Given the description of an element on the screen output the (x, y) to click on. 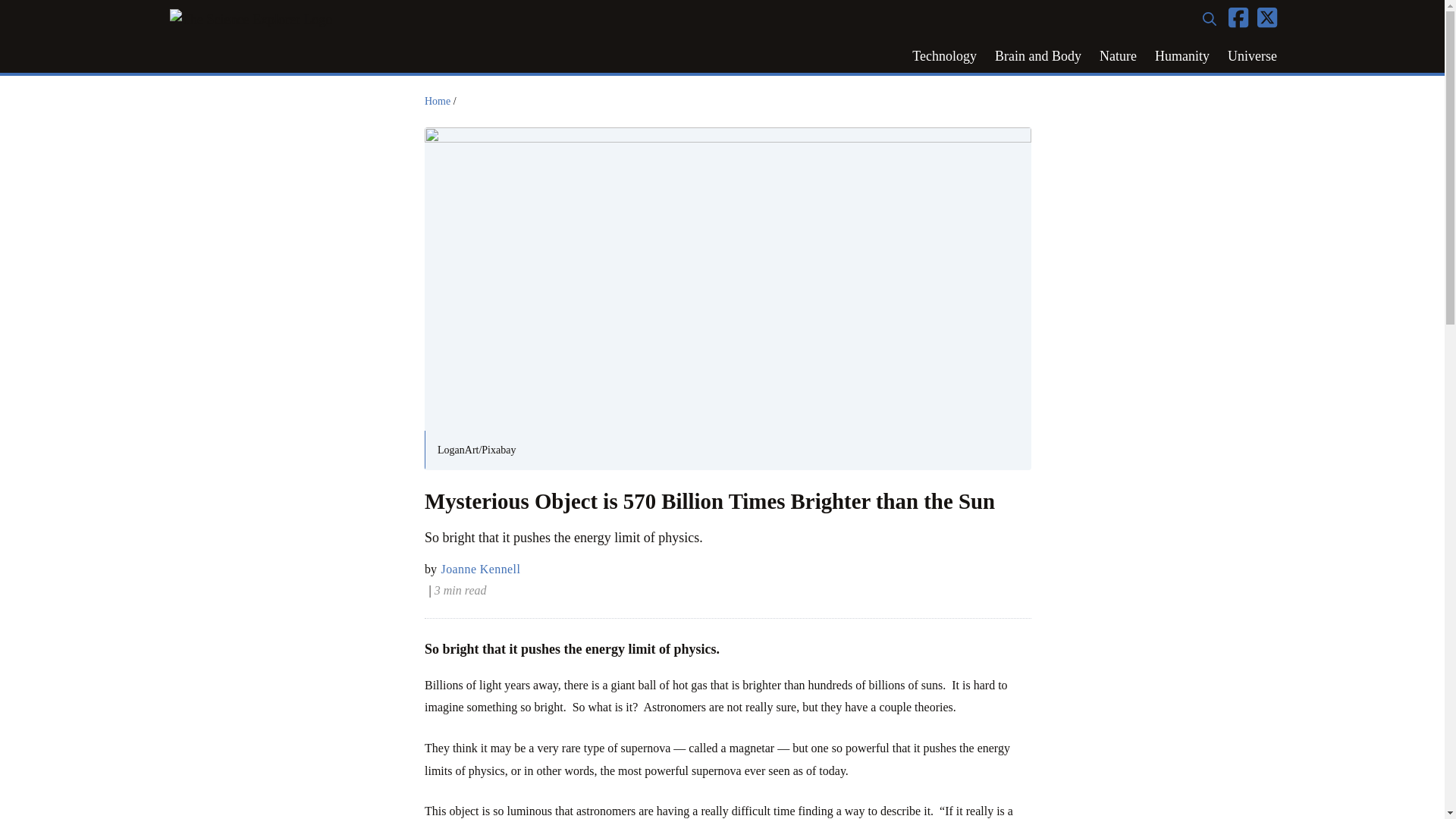
Open Search (1209, 19)
Home (437, 101)
Humanity (1181, 55)
Brain and Body (1037, 55)
Universe (1251, 55)
Technology (943, 55)
Nature (1117, 55)
